Given the description of an element on the screen output the (x, y) to click on. 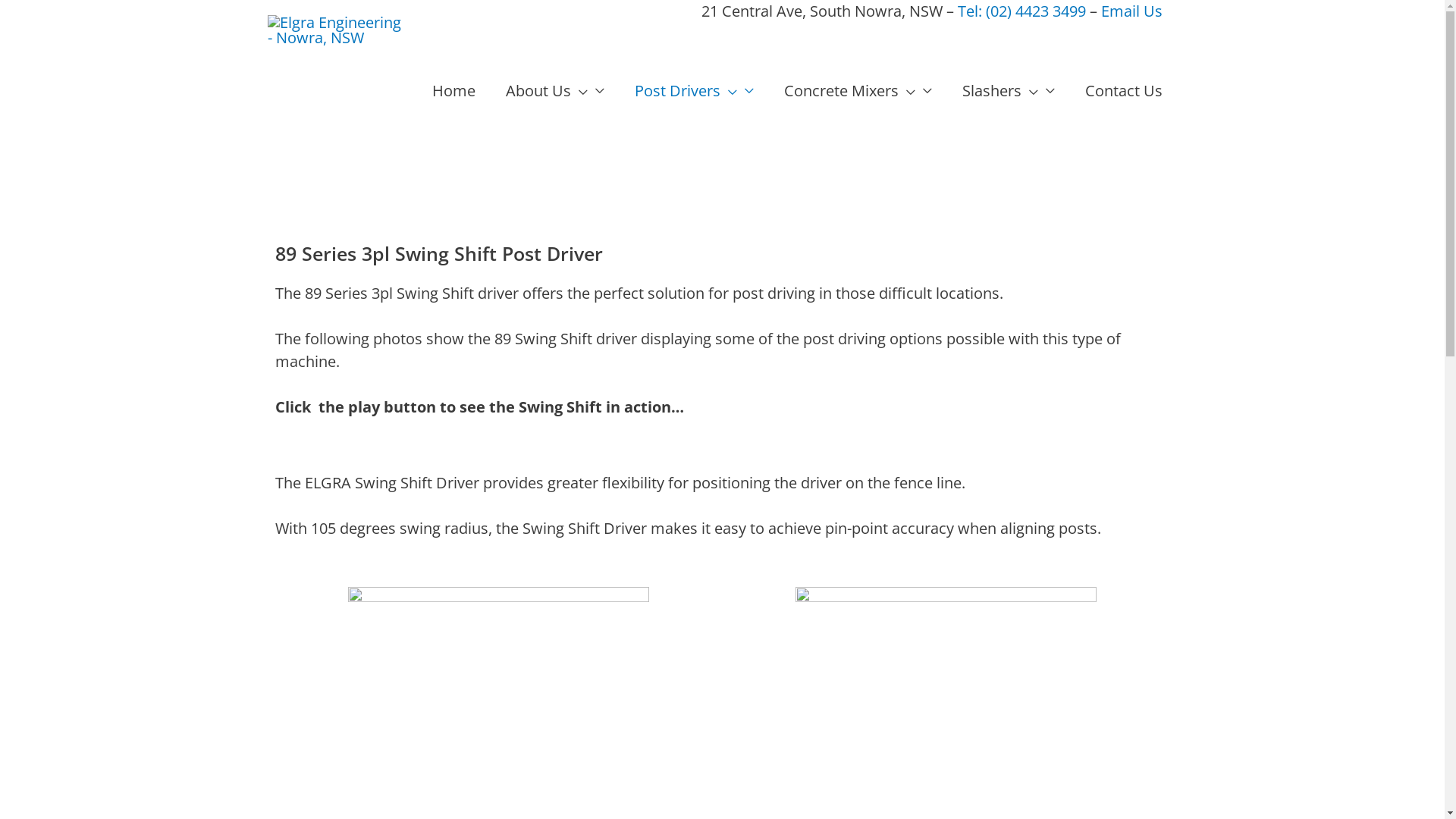
Post Drivers Element type: text (693, 90)
Contact Us Element type: text (1122, 90)
About Us Element type: text (553, 90)
Home Element type: text (453, 90)
Email Us Element type: text (1131, 10)
Concrete Mixers Element type: text (857, 90)
Tel: (02) 4423 3499 Element type: text (1021, 10)
Slashers Element type: text (1007, 90)
